Given the description of an element on the screen output the (x, y) to click on. 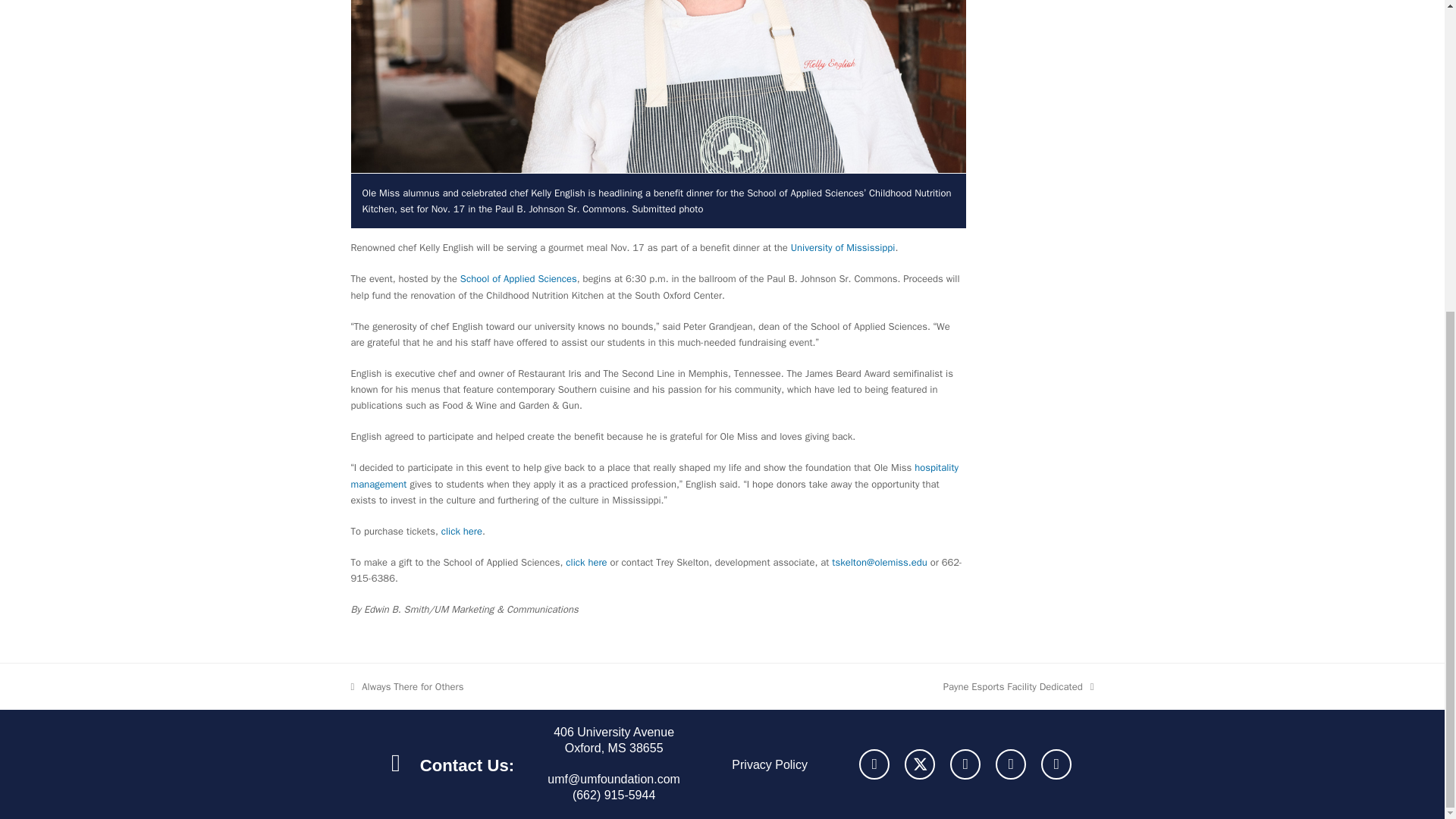
Facebook (874, 764)
Instagram (964, 764)
Email (1056, 764)
Phone (1010, 764)
Twitter (919, 764)
